Given the description of an element on the screen output the (x, y) to click on. 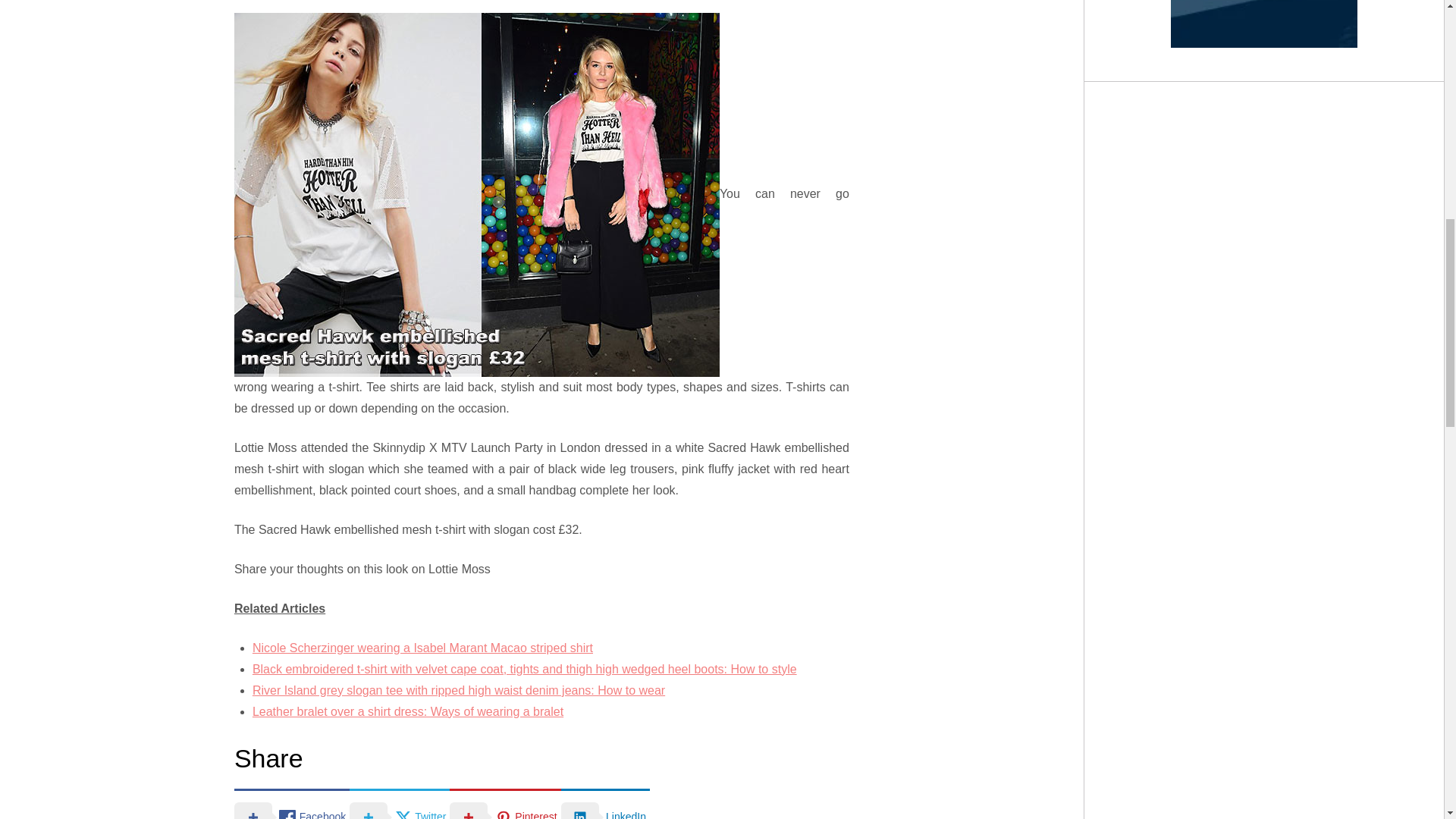
Sacred-Hawk-embellished-mesh-t-shirt-with-slogan (476, 193)
